Given the description of an element on the screen output the (x, y) to click on. 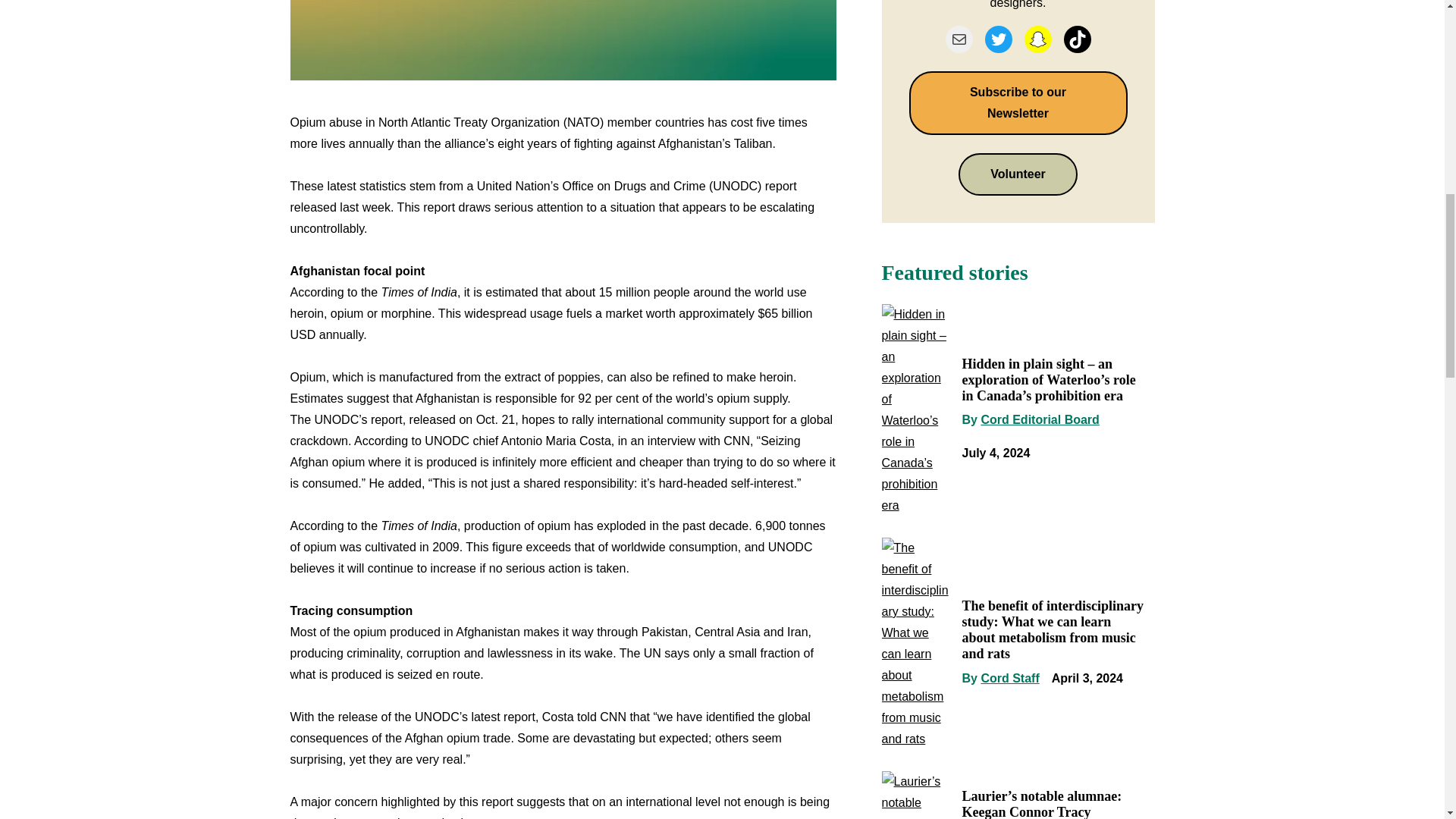
Mail (958, 39)
TikTok (1076, 39)
Posts by Cord Staff (1009, 677)
Snapchat (1037, 39)
Subscribe to our Newsletter (1017, 103)
Twitter (997, 39)
Volunteer (1017, 174)
Posts by Cord Editorial Board (1039, 419)
